Given the description of an element on the screen output the (x, y) to click on. 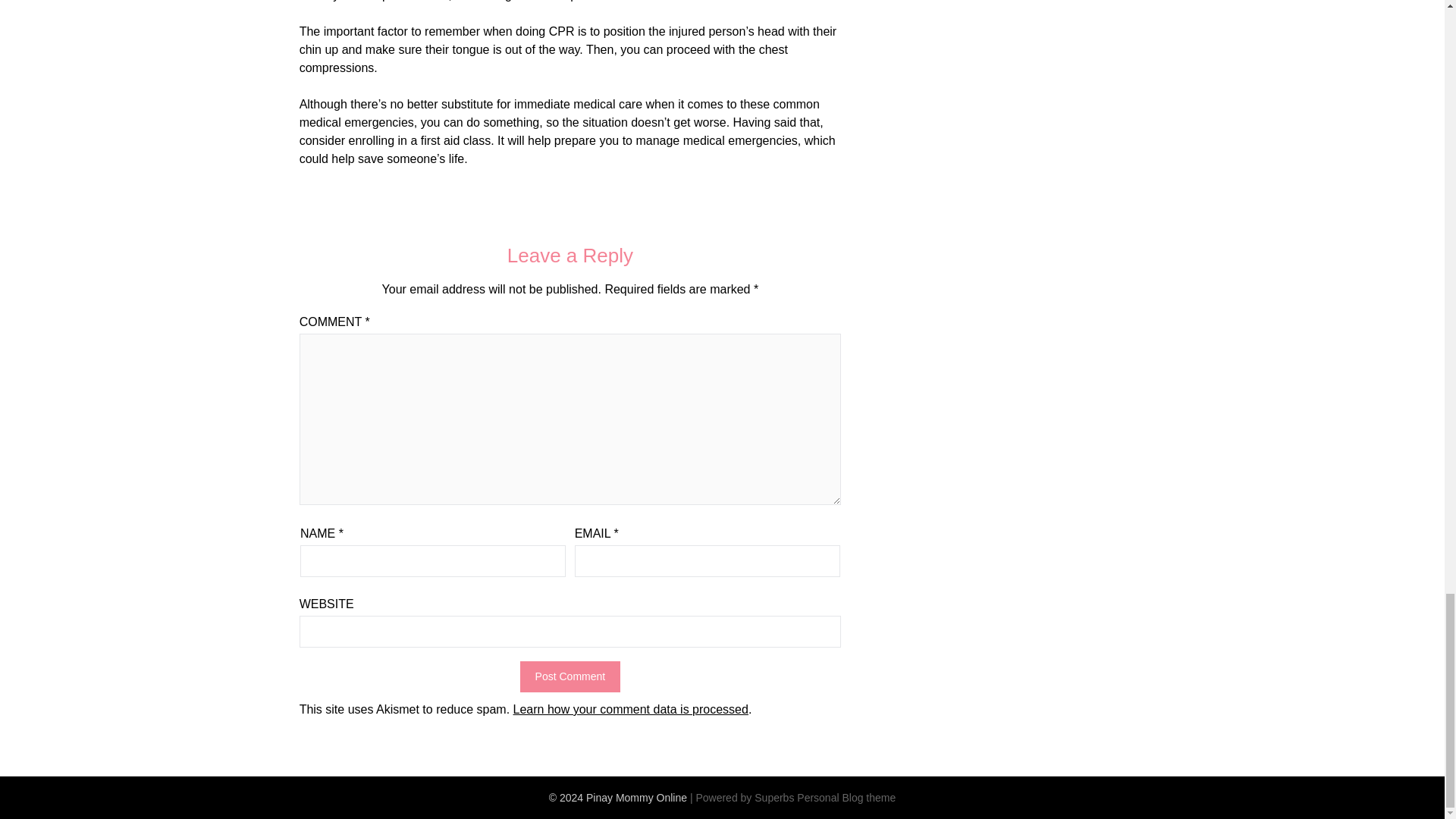
Personal Blog theme (845, 797)
Post Comment (570, 676)
Learn how your comment data is processed (630, 708)
Post Comment (570, 676)
